Given the description of an element on the screen output the (x, y) to click on. 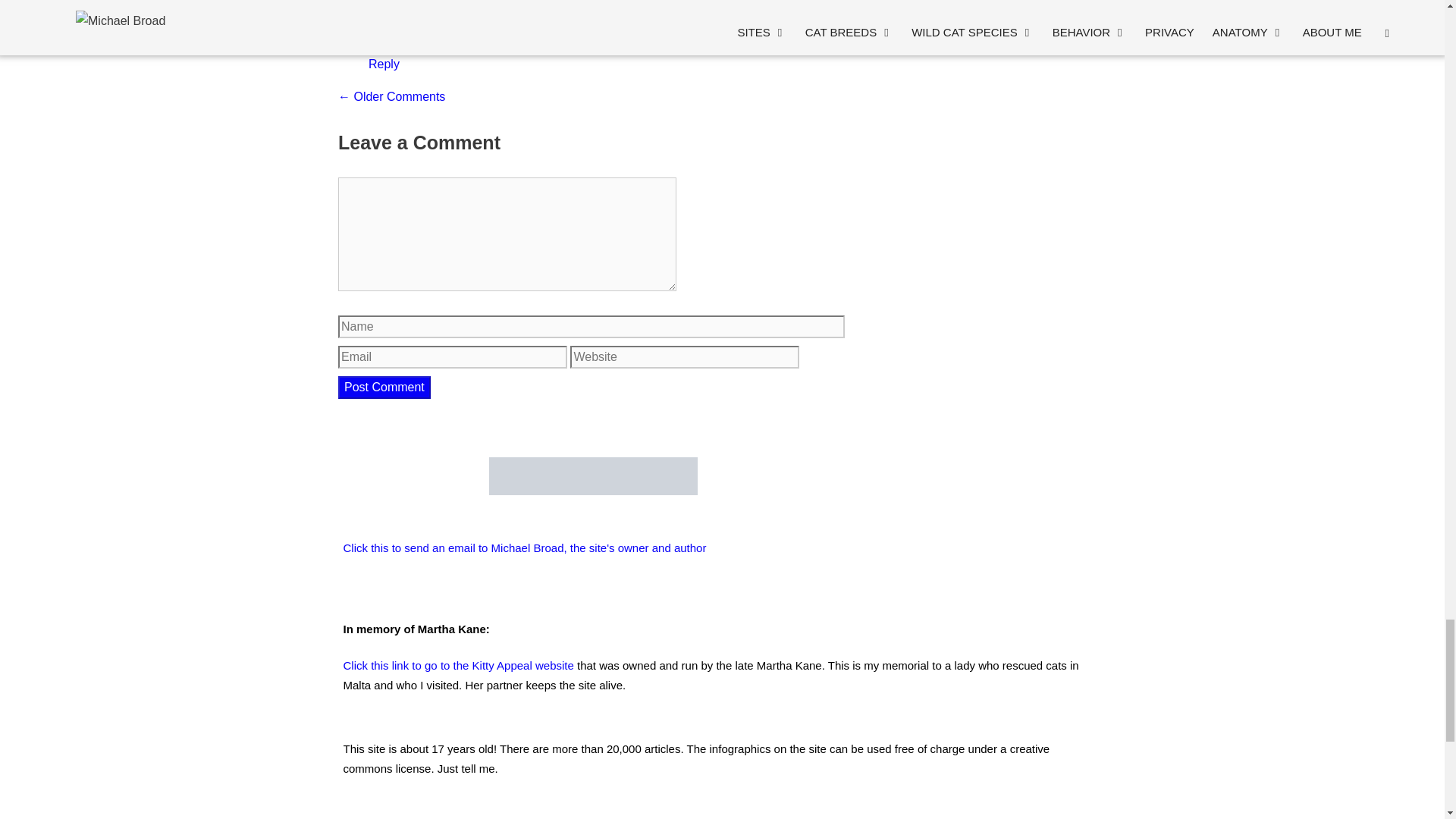
Post Comment (383, 386)
